Given the description of an element on the screen output the (x, y) to click on. 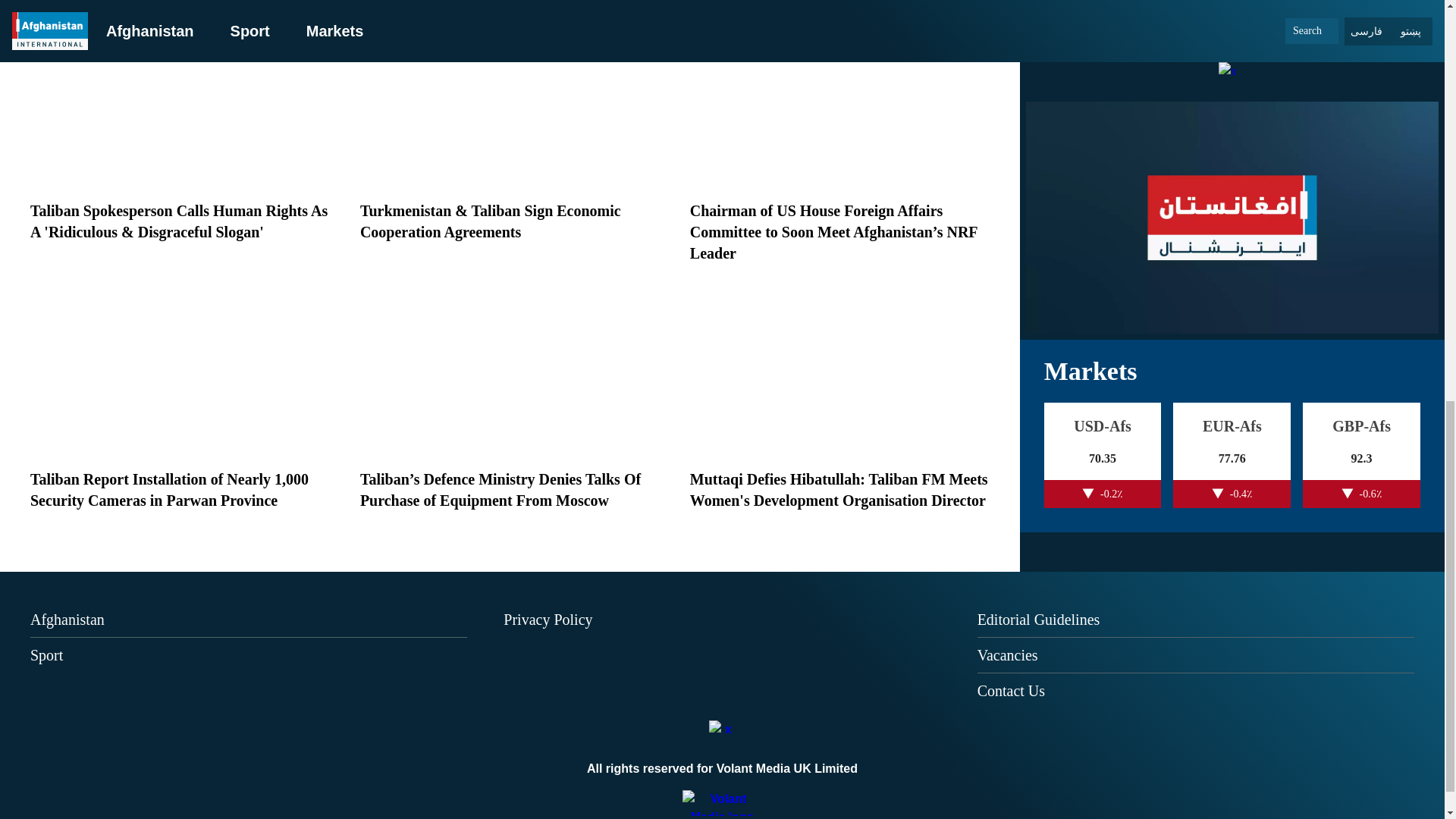
Vacancies (1007, 655)
Afghanistan (67, 619)
Editorial Guidelines (1038, 619)
Contact Us (1010, 690)
Privacy Policy (547, 619)
Sport (46, 655)
